Given the description of an element on the screen output the (x, y) to click on. 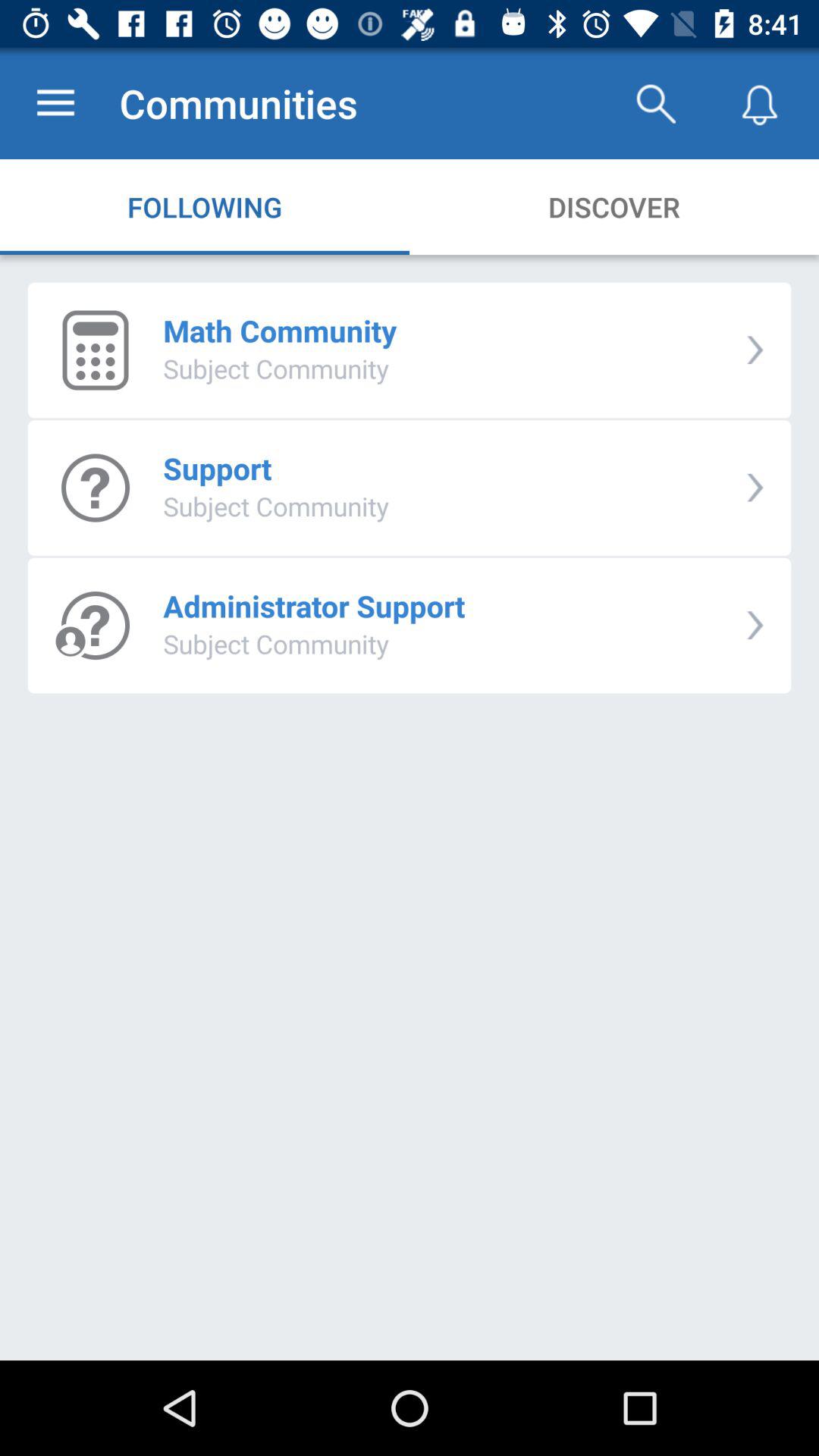
scroll to the math community (279, 330)
